Given the description of an element on the screen output the (x, y) to click on. 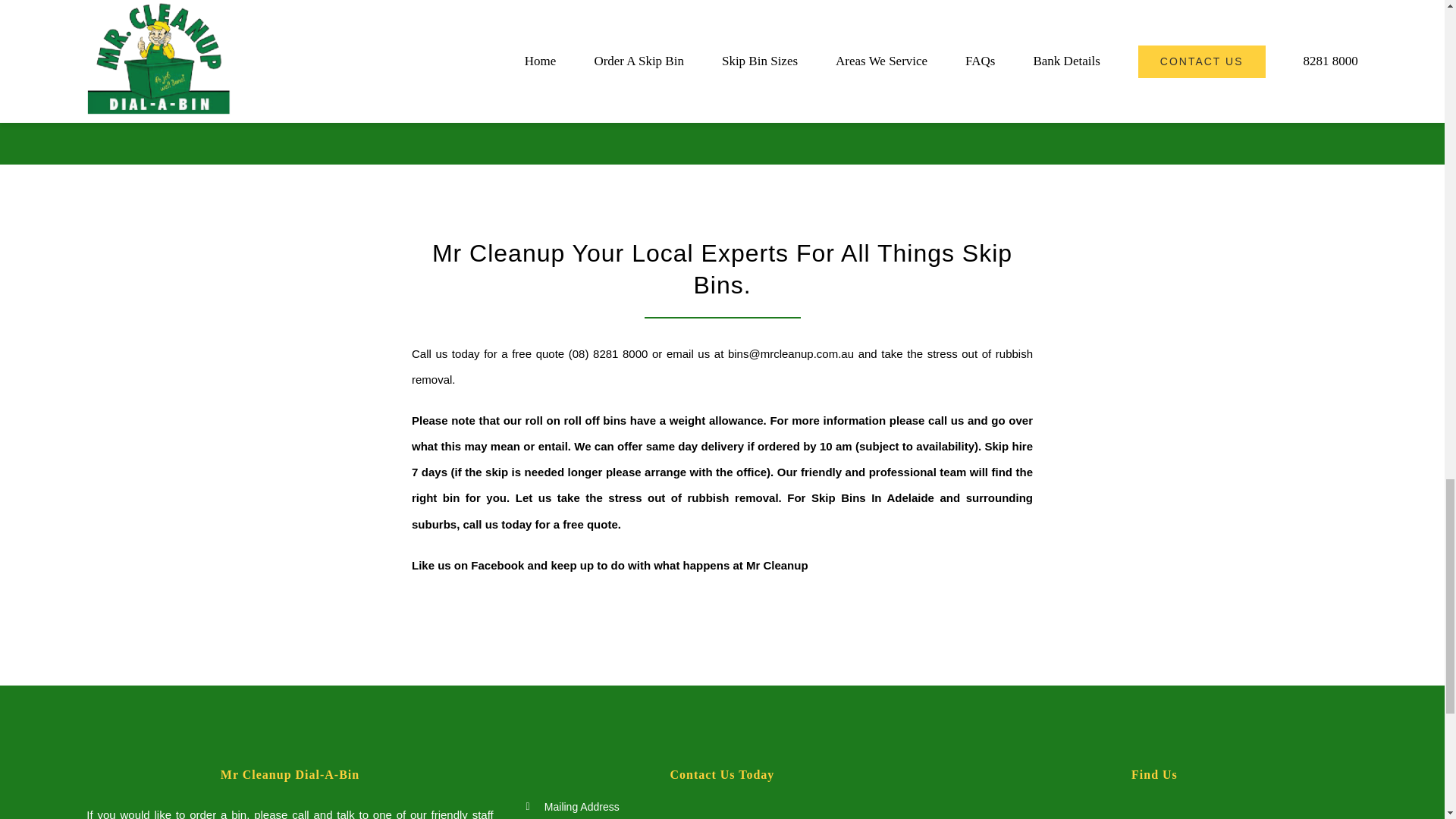
Like us on Facebook (468, 564)
